Given the description of an element on the screen output the (x, y) to click on. 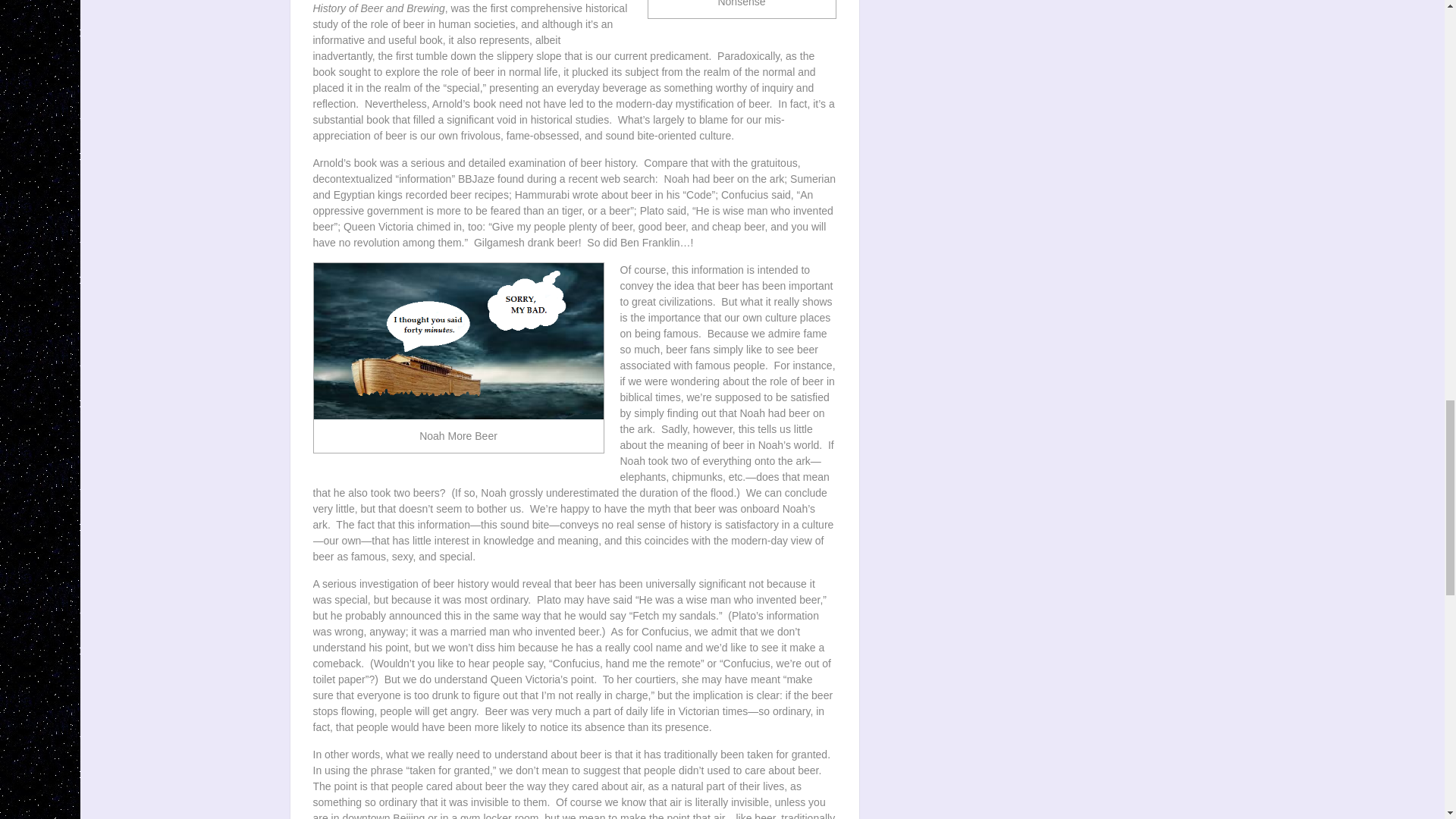
Booze Cruise (459, 340)
